Given the description of an element on the screen output the (x, y) to click on. 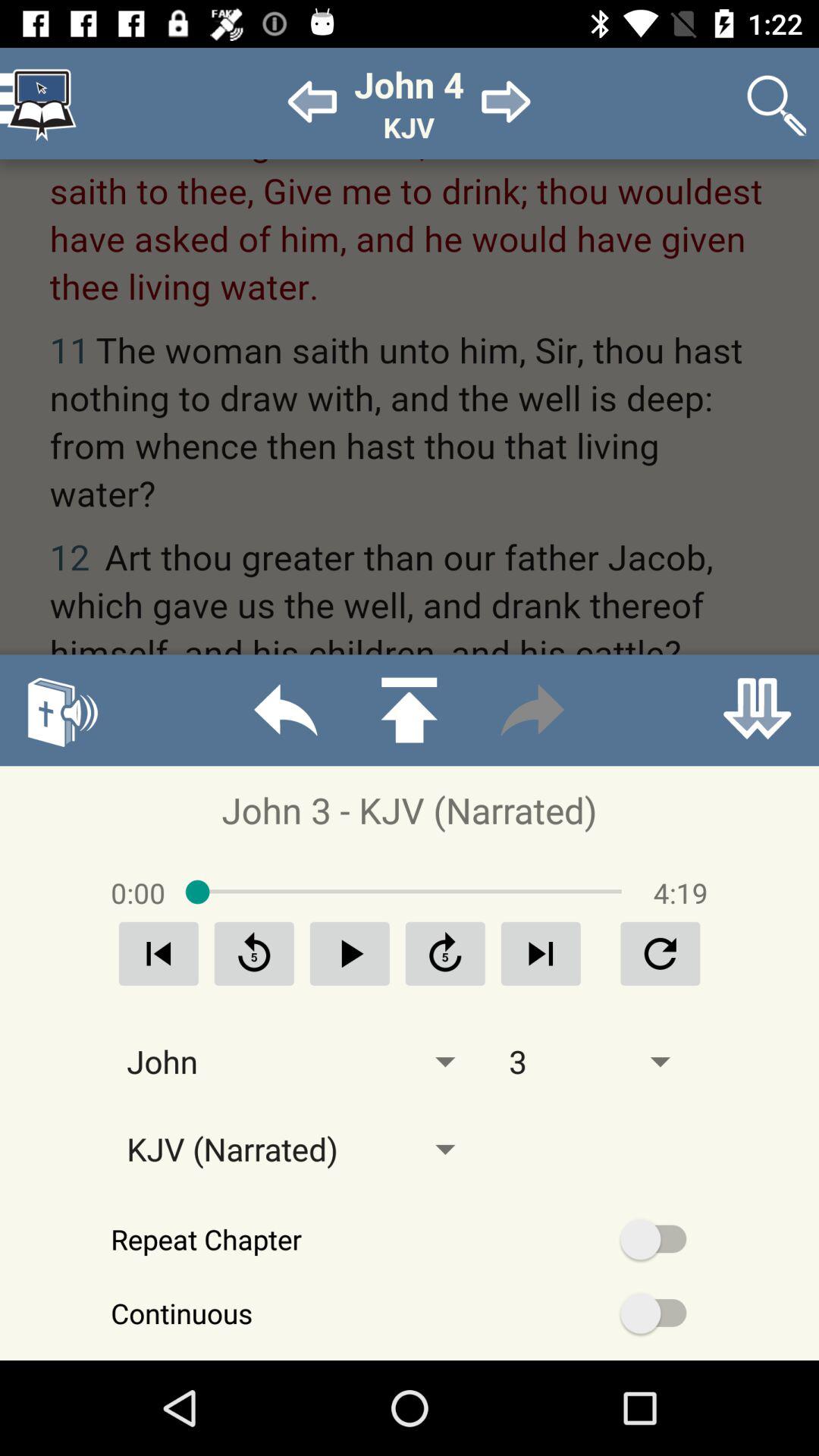
go back (285, 709)
